Given the description of an element on the screen output the (x, y) to click on. 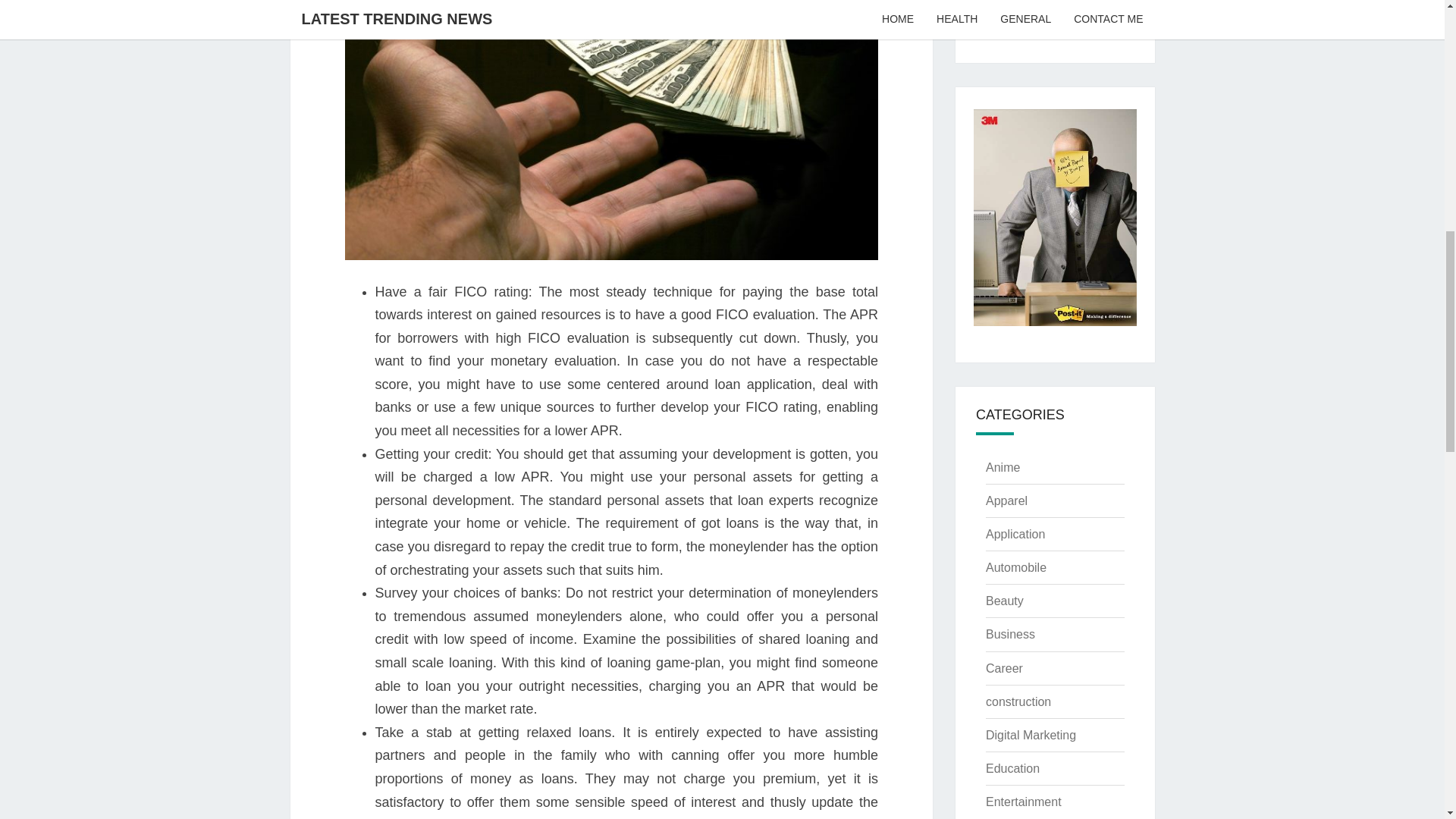
Beauty (1004, 600)
Digital Marketing (1030, 735)
Business (1010, 634)
Apparel (1006, 500)
Automobile (1015, 567)
Anime (1002, 467)
Education (1012, 768)
construction (1018, 701)
Application (1015, 533)
Career (1004, 667)
